Given the description of an element on the screen output the (x, y) to click on. 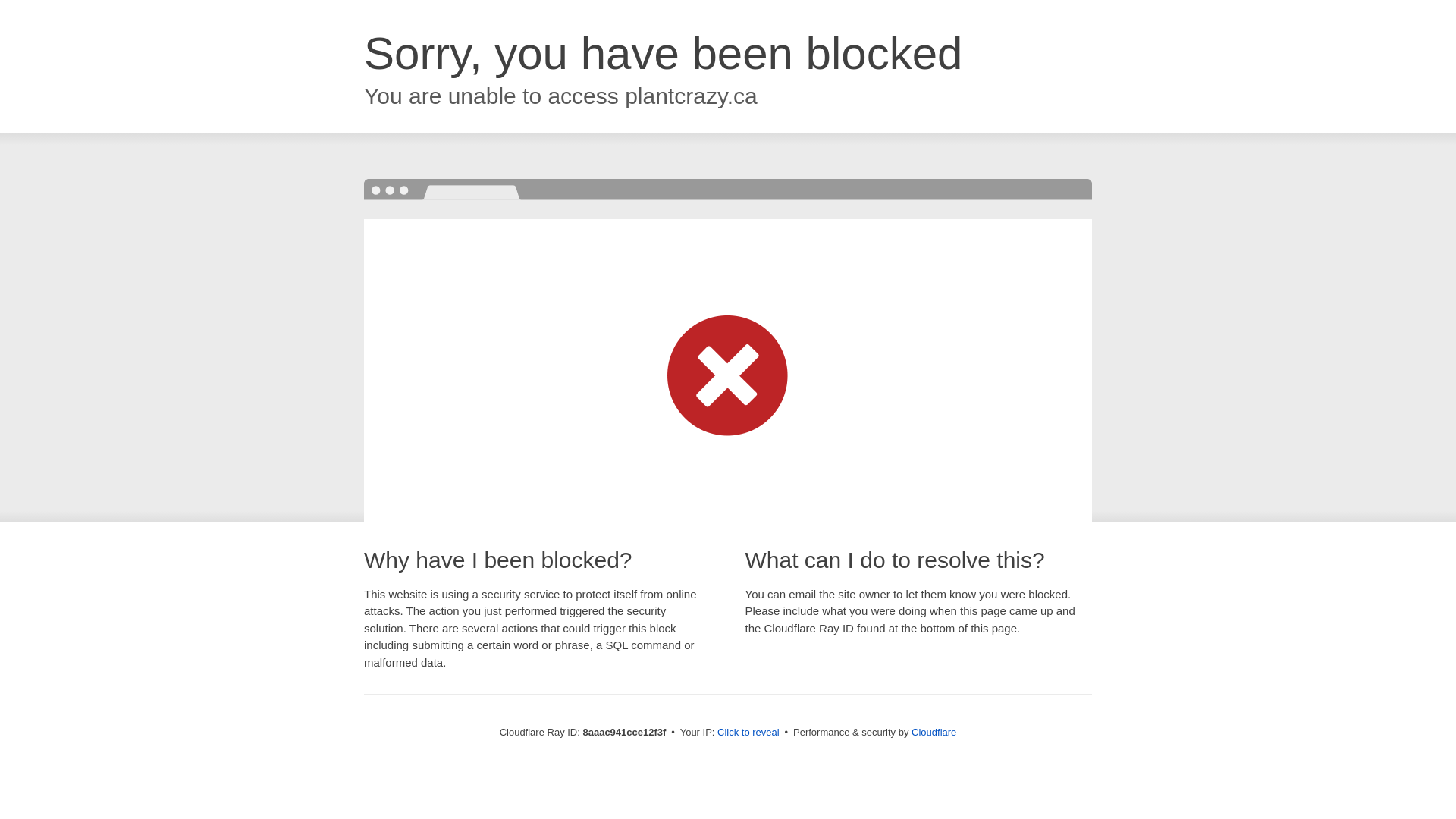
Cloudflare (933, 731)
Click to reveal (747, 732)
